Given the description of an element on the screen output the (x, y) to click on. 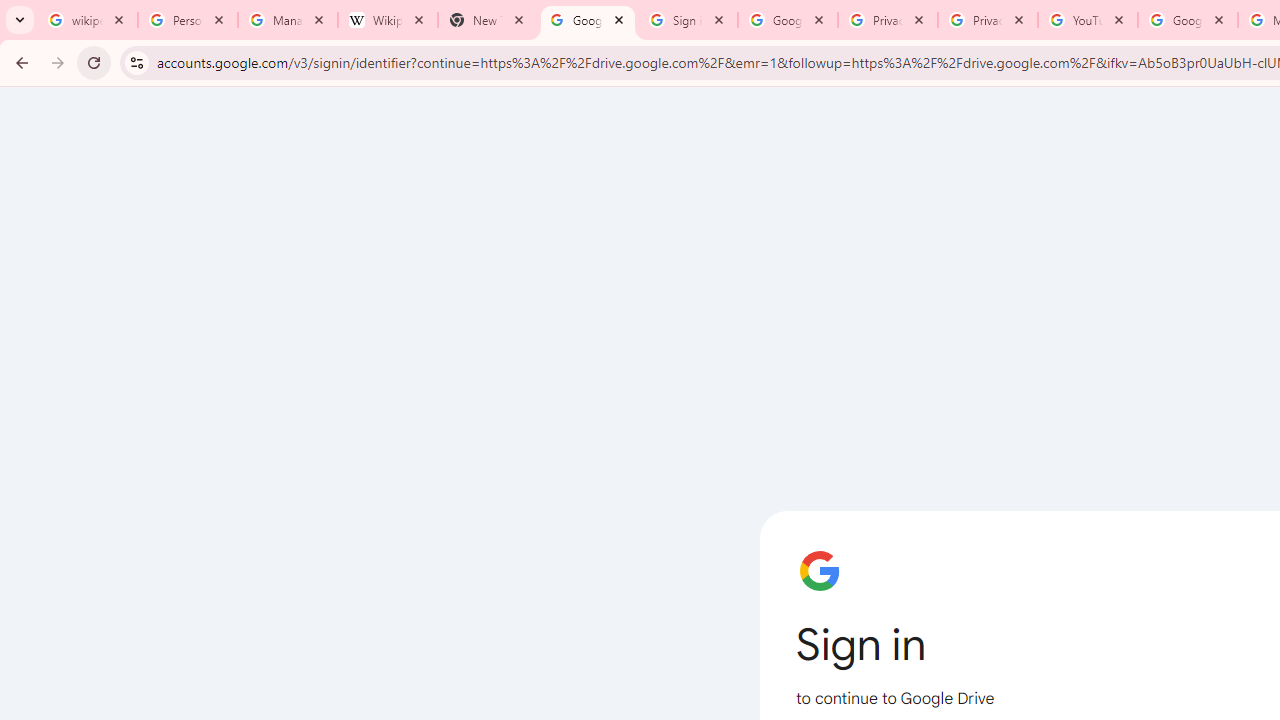
Sign in - Google Accounts (687, 20)
Manage your Location History - Google Search Help (287, 20)
Google Drive: Sign-in (587, 20)
